Given the description of an element on the screen output the (x, y) to click on. 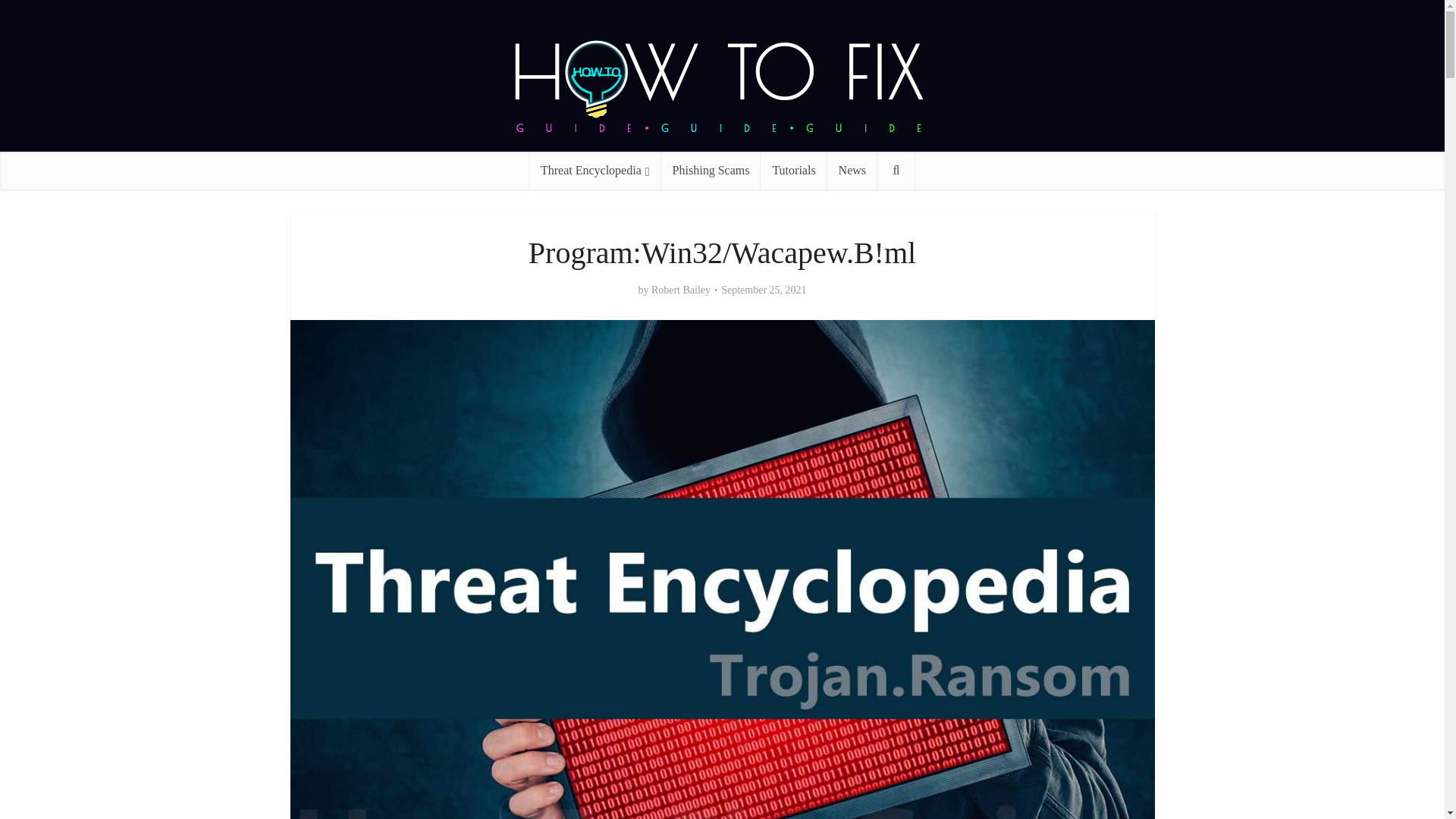
Tutorials (793, 170)
News (852, 170)
Robert Bailey (680, 290)
Threat Encyclopedia (595, 170)
Phishing Scams (711, 170)
